Given the description of an element on the screen output the (x, y) to click on. 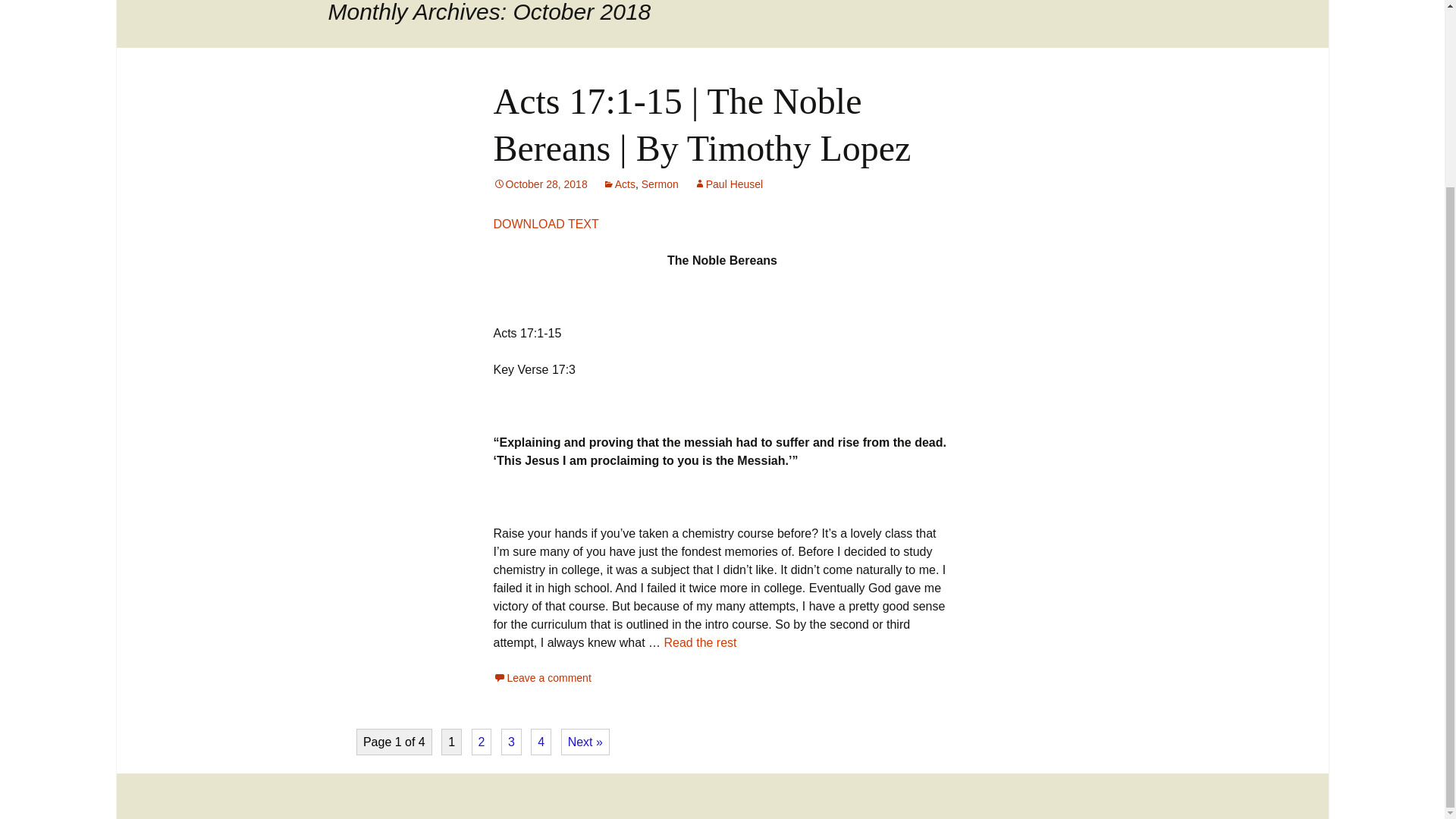
4 (541, 741)
Paul Heusel (728, 184)
Leave a comment (542, 677)
Acts (618, 184)
3 (510, 741)
Read the rest (699, 642)
DOWNLOAD TEXT (545, 223)
2 (481, 741)
October 28, 2018 (539, 184)
View all posts by Paul Heusel (728, 184)
Sermon (660, 184)
Archives (813, 5)
